Given the description of an element on the screen output the (x, y) to click on. 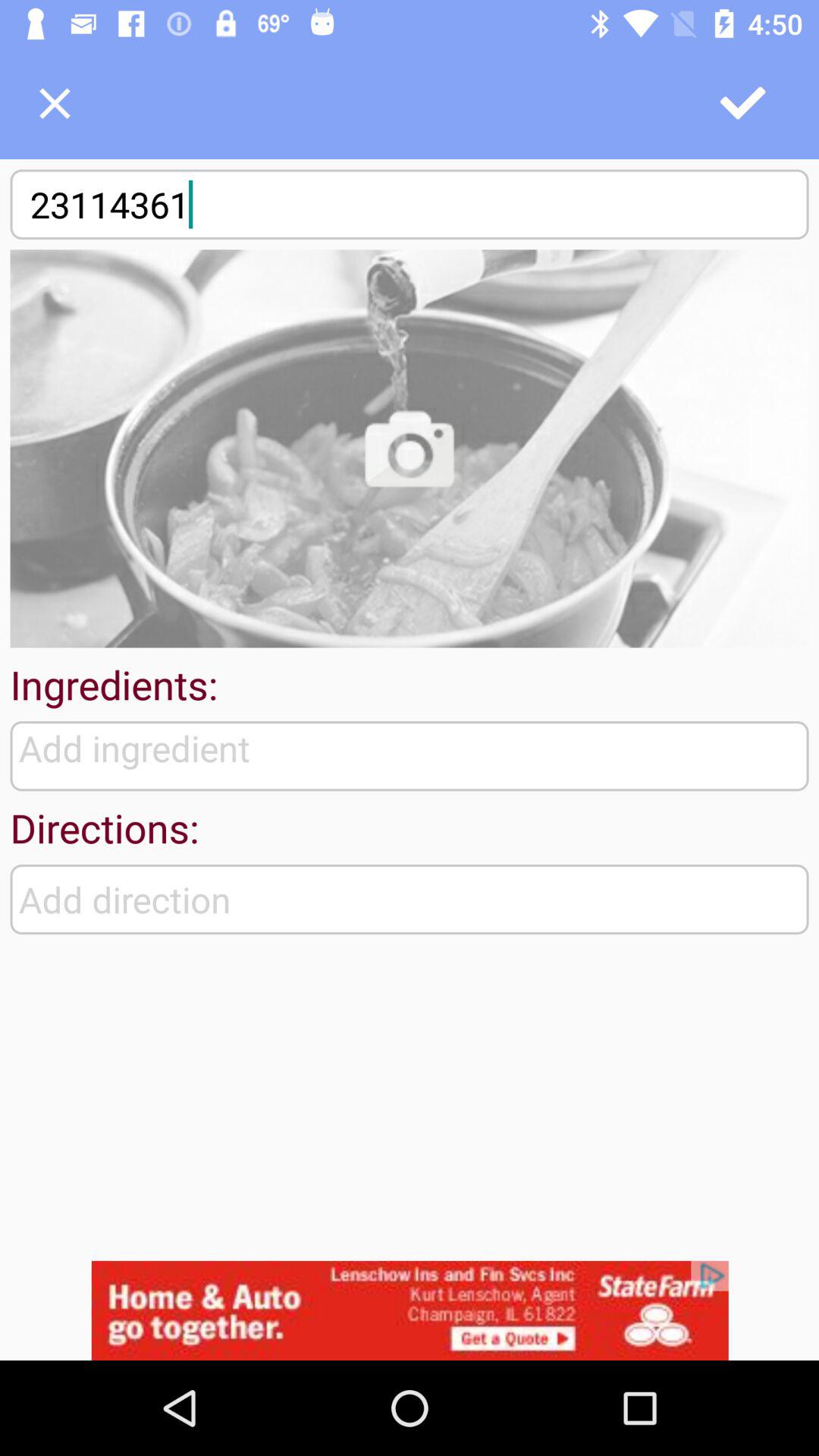
like recipe (744, 103)
